Given the description of an element on the screen output the (x, y) to click on. 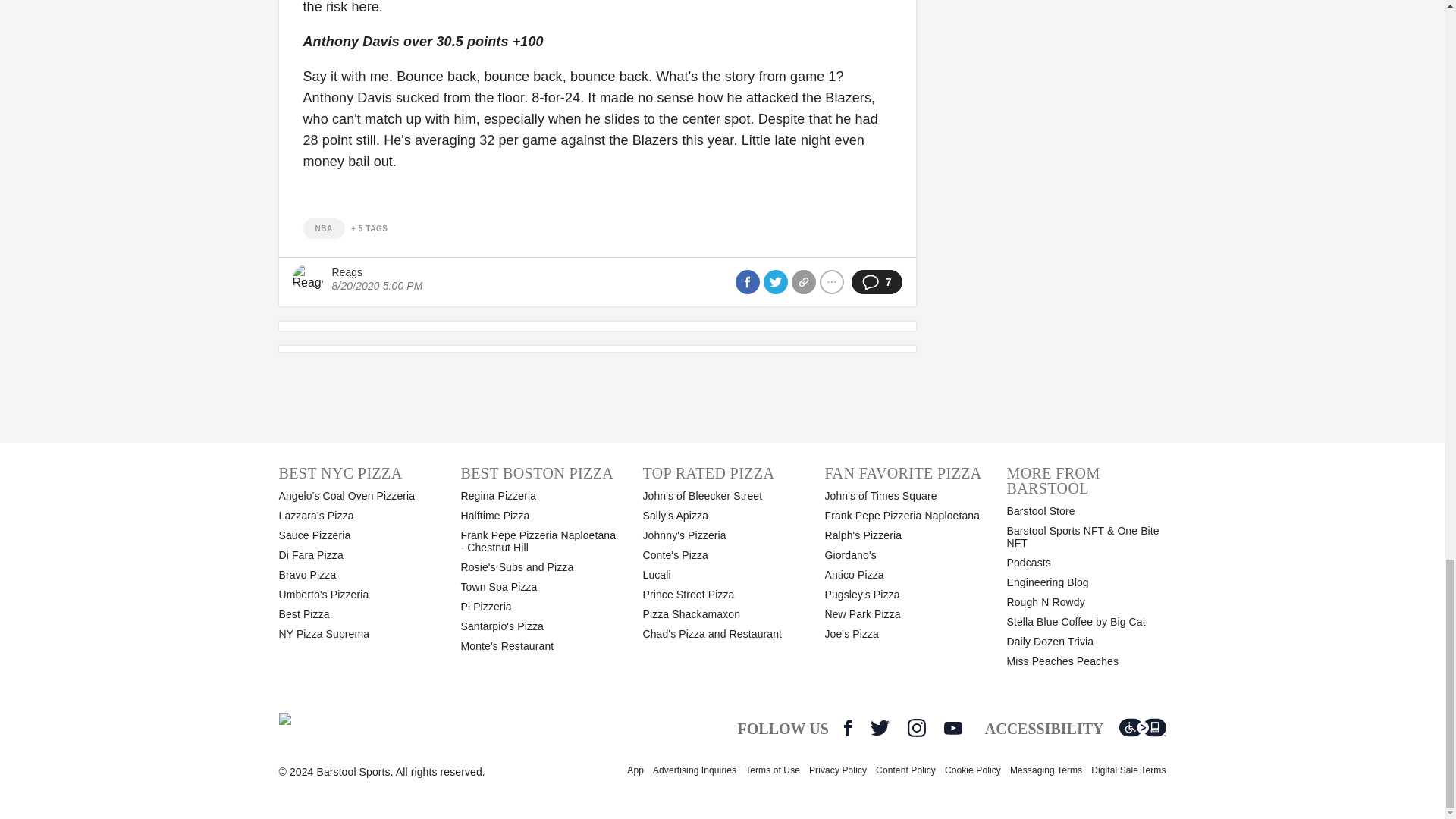
Level Access website accessibility icon (1142, 727)
Instagram Icon (916, 728)
YouTube Icon (952, 728)
Twitter Icon (879, 728)
